Given the description of an element on the screen output the (x, y) to click on. 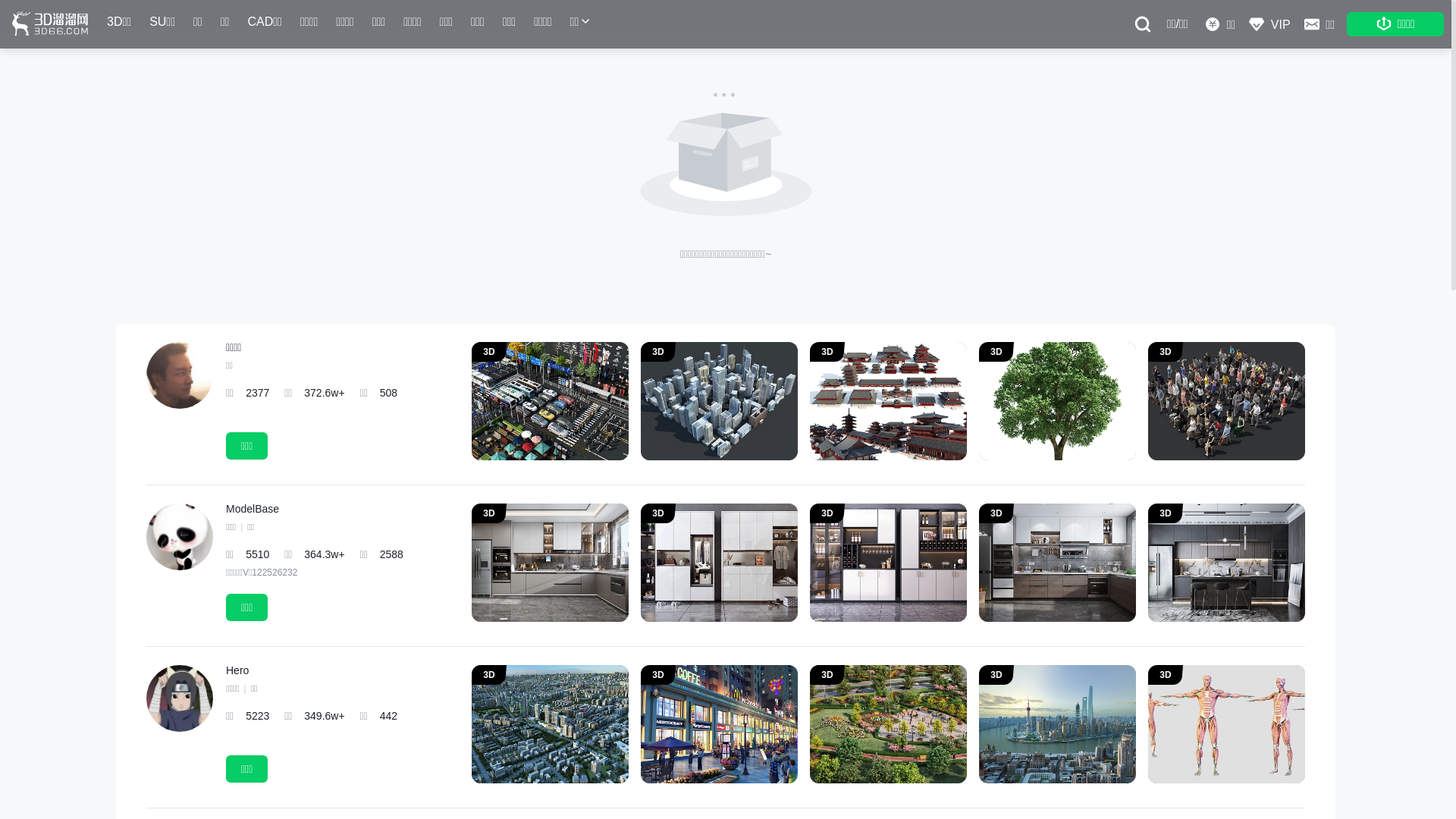
VIP Element type: text (1268, 23)
